Given the description of an element on the screen output the (x, y) to click on. 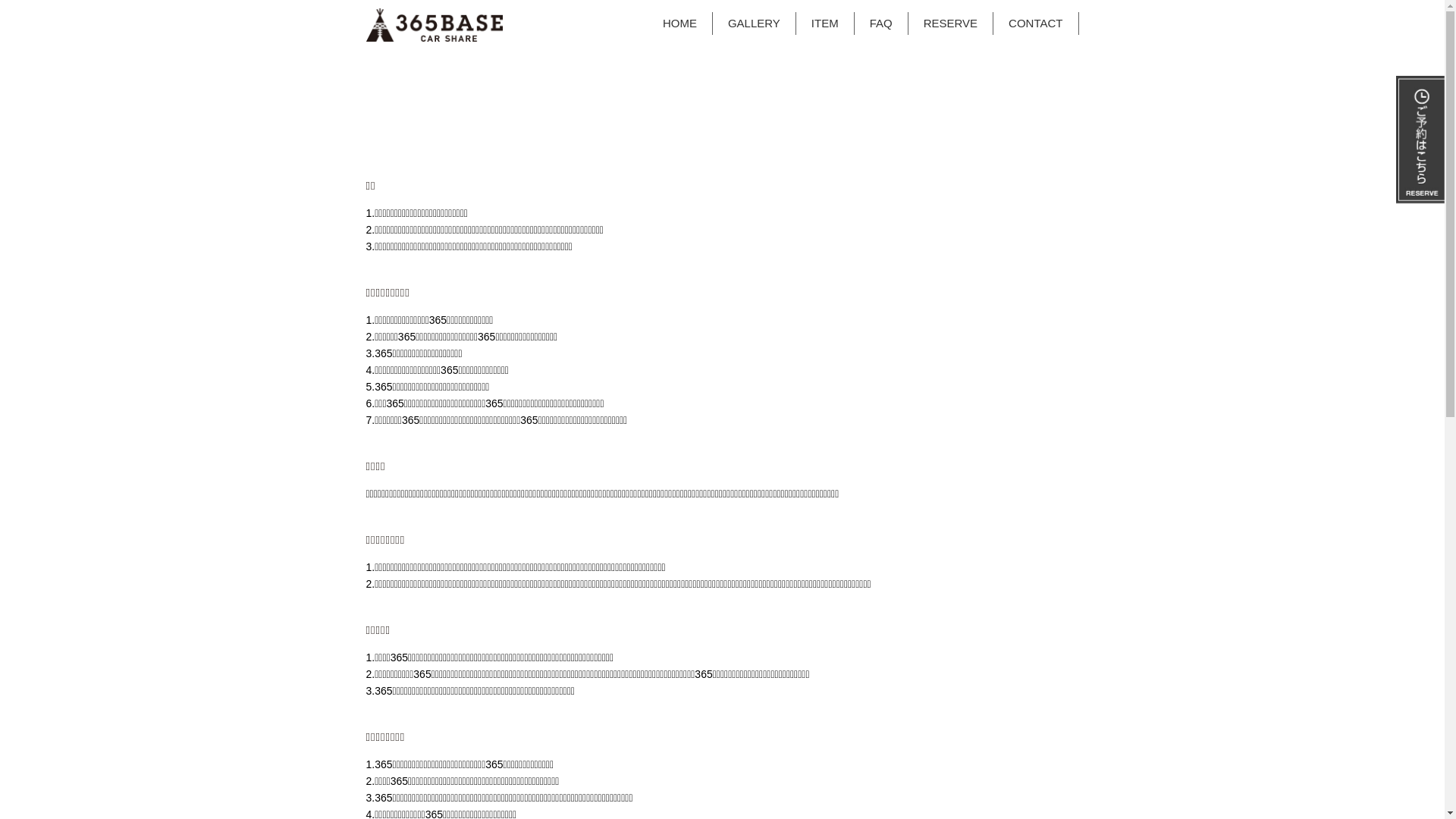
CONTACT Element type: text (1035, 23)
GALLERY Element type: text (754, 23)
HOME Element type: text (679, 23)
RESERVE Element type: text (950, 23)
ITEM Element type: text (825, 23)
FAQ Element type: text (881, 23)
